Given the description of an element on the screen output the (x, y) to click on. 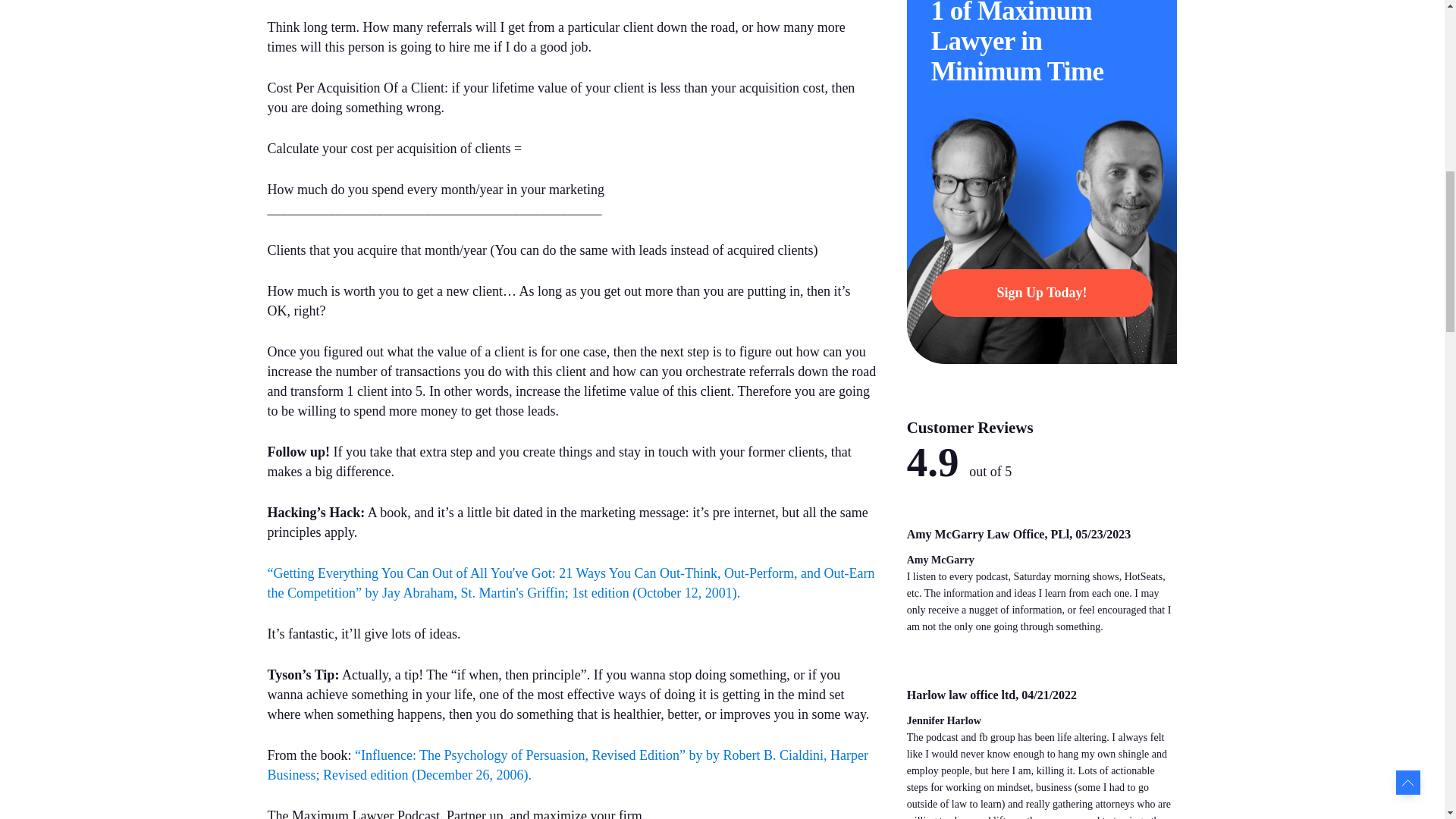
Sign Up Today! (1042, 292)
